Given the description of an element on the screen output the (x, y) to click on. 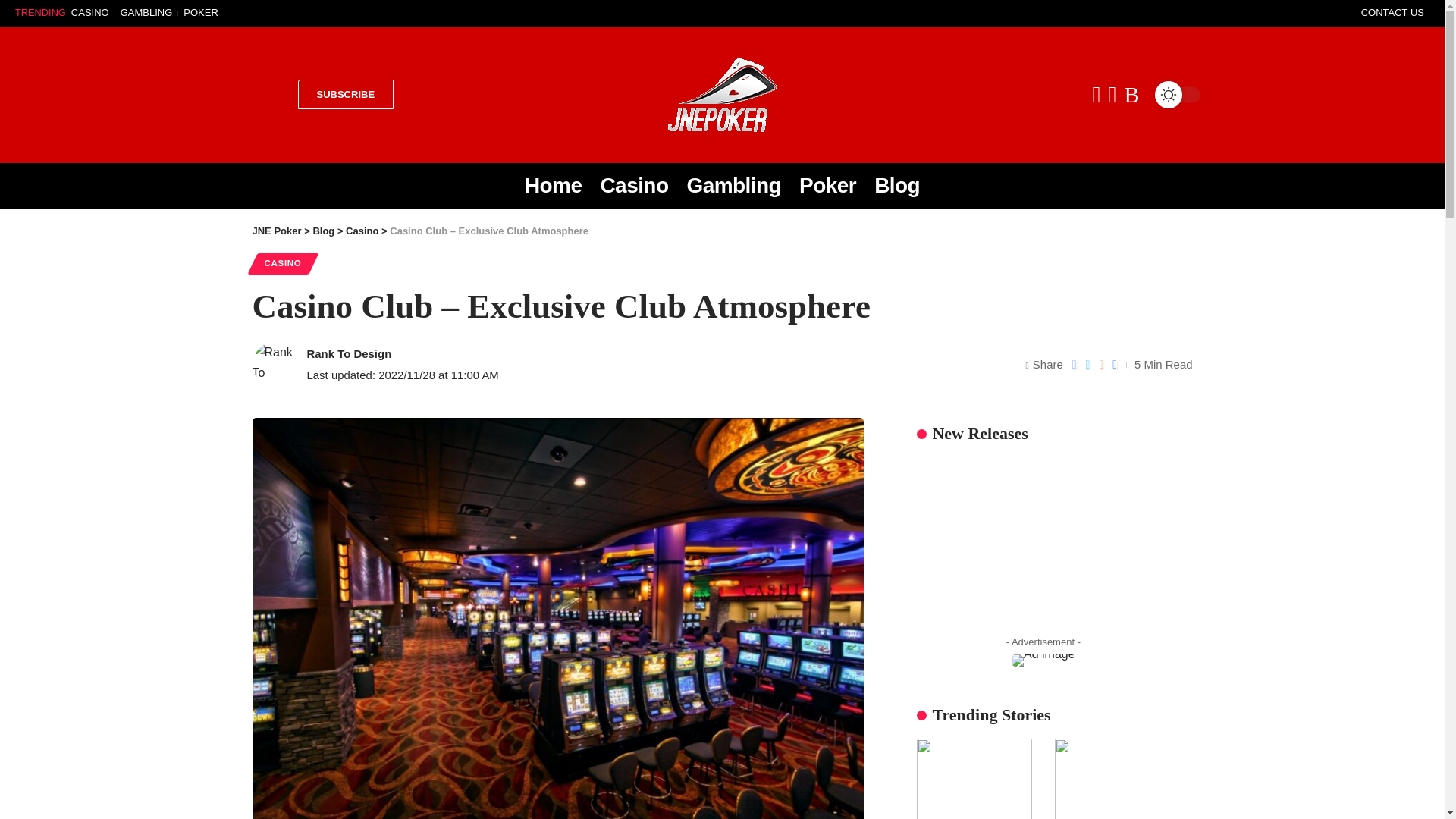
CONTACT US (1392, 12)
GAMBLING (146, 12)
Blog (323, 230)
Home (553, 185)
POKER (200, 12)
Go to JNE Poker. (276, 230)
Poker (827, 185)
Gambling (733, 185)
Maximizing Your Winnings on Togel Websites (974, 778)
Casino (362, 230)
